Given the description of an element on the screen output the (x, y) to click on. 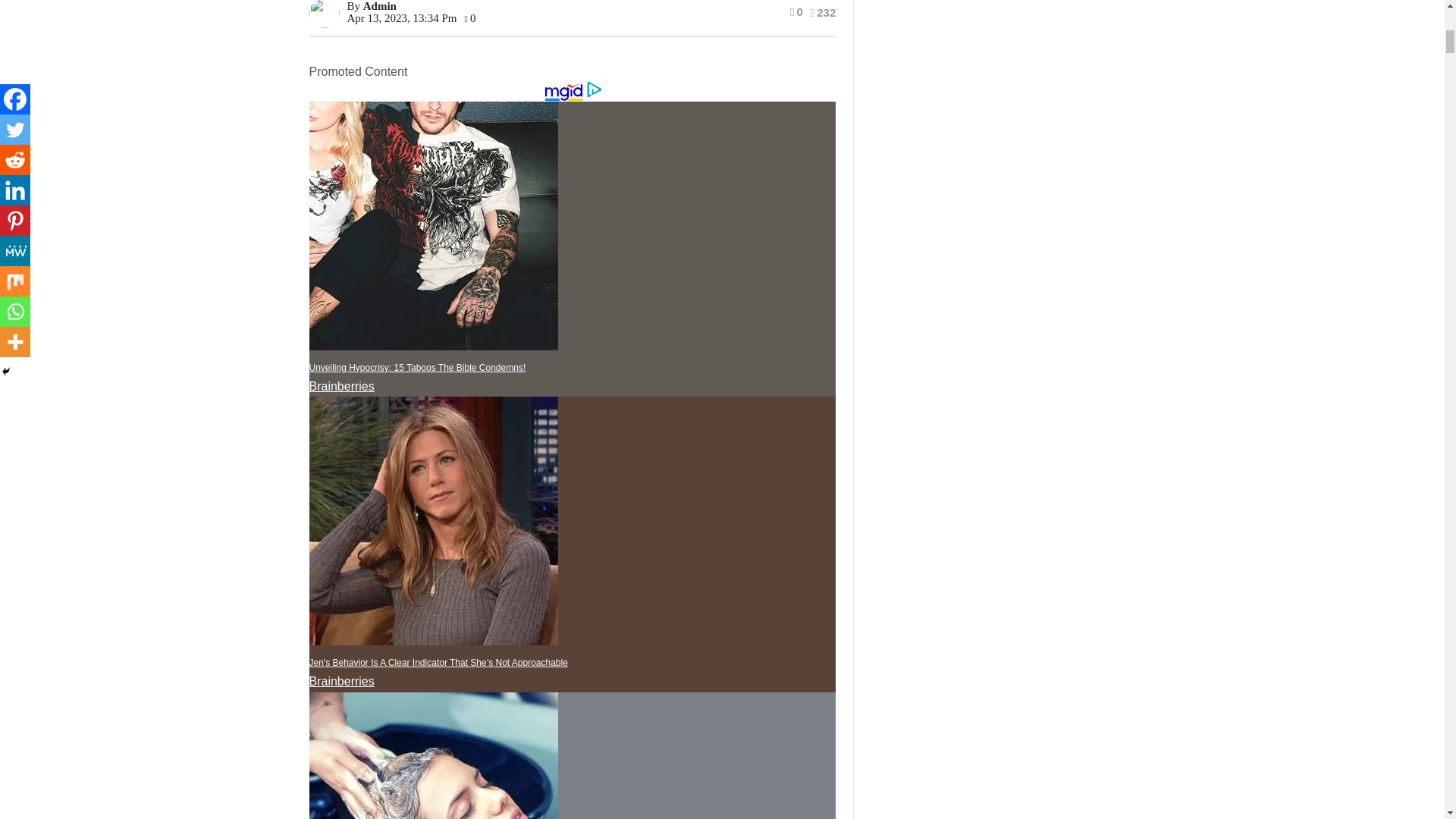
Posts by admin (379, 6)
Admin (379, 6)
Like (796, 11)
0 (470, 18)
0 (796, 11)
